Given the description of an element on the screen output the (x, y) to click on. 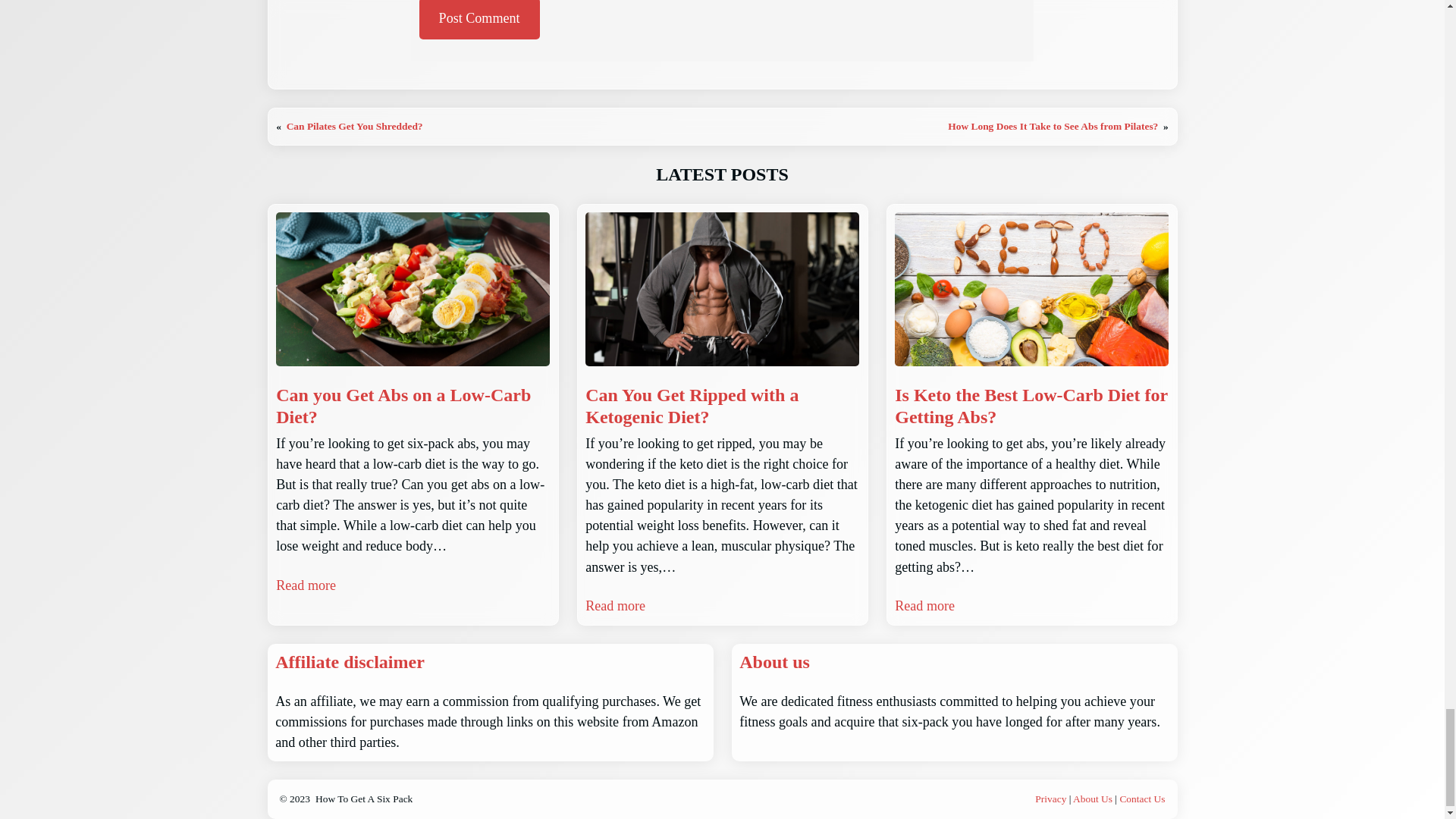
How To Get A Six Pack (363, 798)
Privacy (1051, 798)
Read more (306, 585)
Read more (925, 606)
Can You Get Ripped with a Ketogenic Diet? (722, 406)
About Us (1092, 798)
Can Pilates Get You Shredded? (354, 125)
Contact Us (1141, 798)
Read more (615, 606)
Post Comment (478, 19)
Can you Get Abs on a Low-Carb Diet? (413, 406)
How Long Does It Take to See Abs from Pilates? (1052, 125)
Post Comment (478, 19)
Is Keto the Best Low-Carb Diet for Getting Abs? (1032, 406)
